Given the description of an element on the screen output the (x, y) to click on. 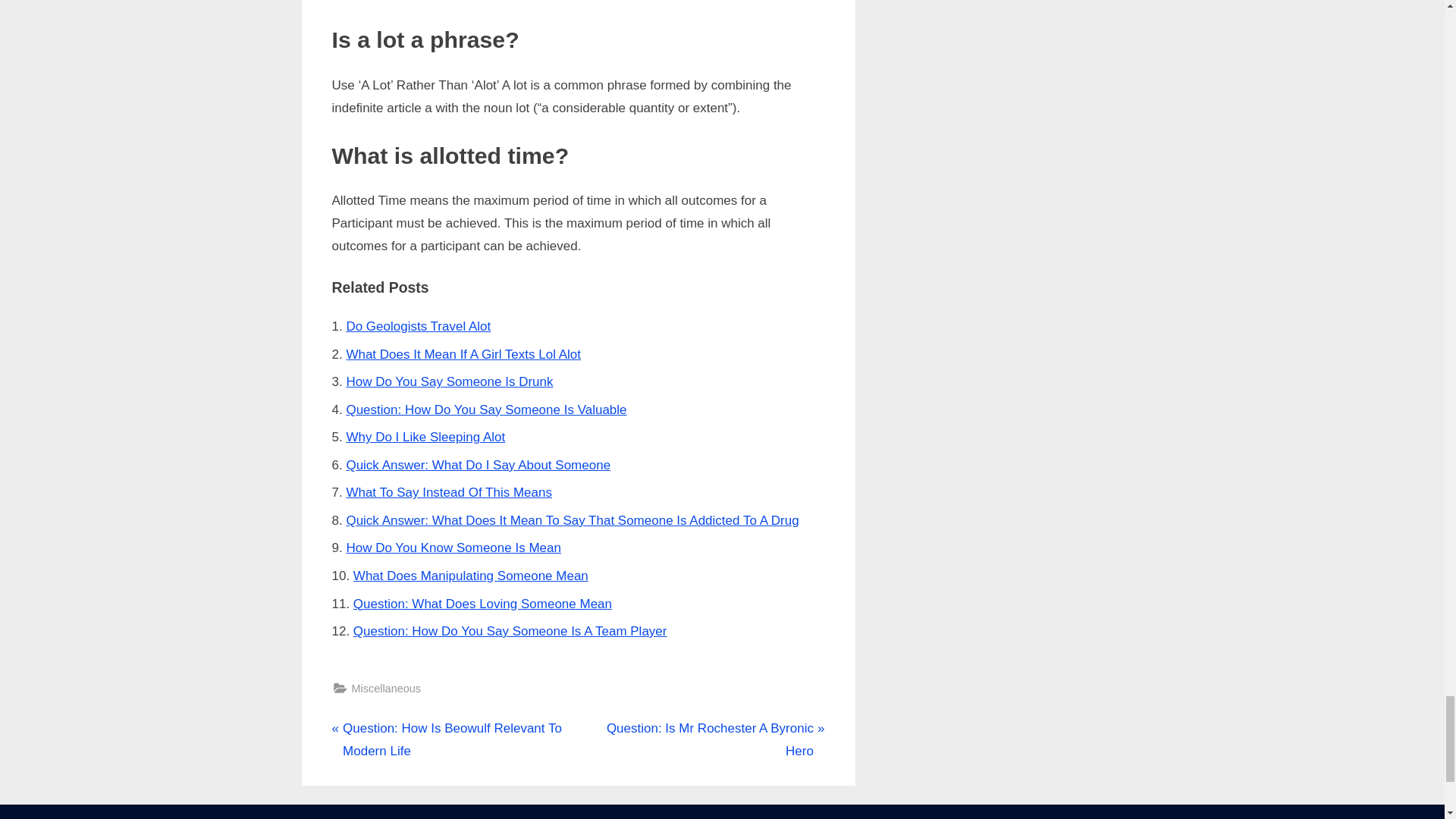
Why Do I Like Sleeping Alot (425, 436)
How Do You Know Someone Is Mean (453, 547)
Question: What Does Loving Someone Mean (482, 603)
Quick Answer: What Do I Say About Someone (478, 464)
What Does It Mean If A Girl Texts Lol Alot (463, 354)
How Do You Know Someone Is Mean (453, 547)
Question: What Does Loving Someone Mean (482, 603)
Quick Answer: What Do I Say About Someone (478, 464)
Do Geologists Travel Alot (418, 326)
Do Geologists Travel Alot (418, 326)
What To Say Instead Of This Means (448, 492)
What To Say Instead Of This Means (448, 492)
Question: How Do You Say Someone Is Valuable (486, 409)
